Given the description of an element on the screen output the (x, y) to click on. 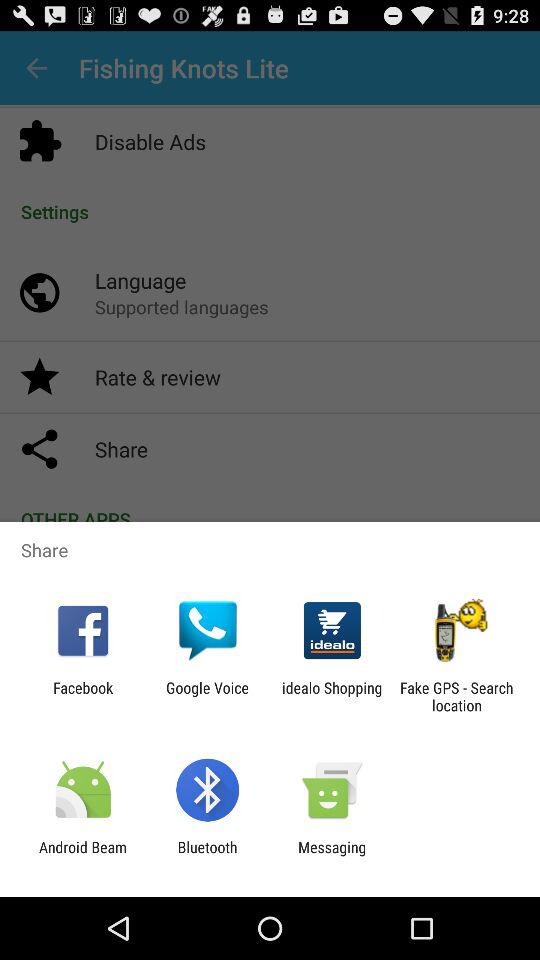
launch the icon to the left of the google voice app (83, 696)
